Given the description of an element on the screen output the (x, y) to click on. 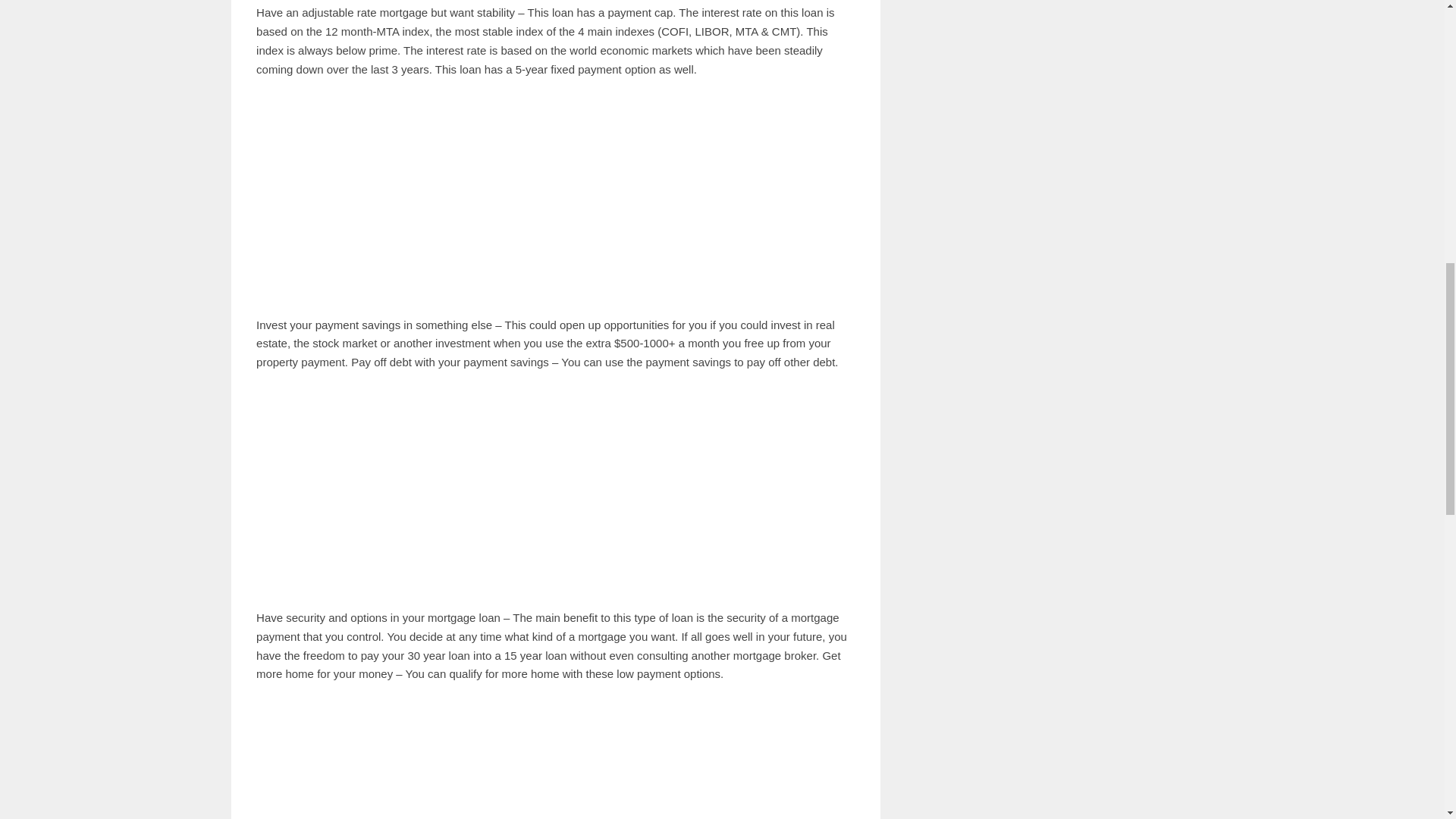
Advertisement (555, 197)
Advertisement (555, 757)
Advertisement (555, 490)
